Given the description of an element on the screen output the (x, y) to click on. 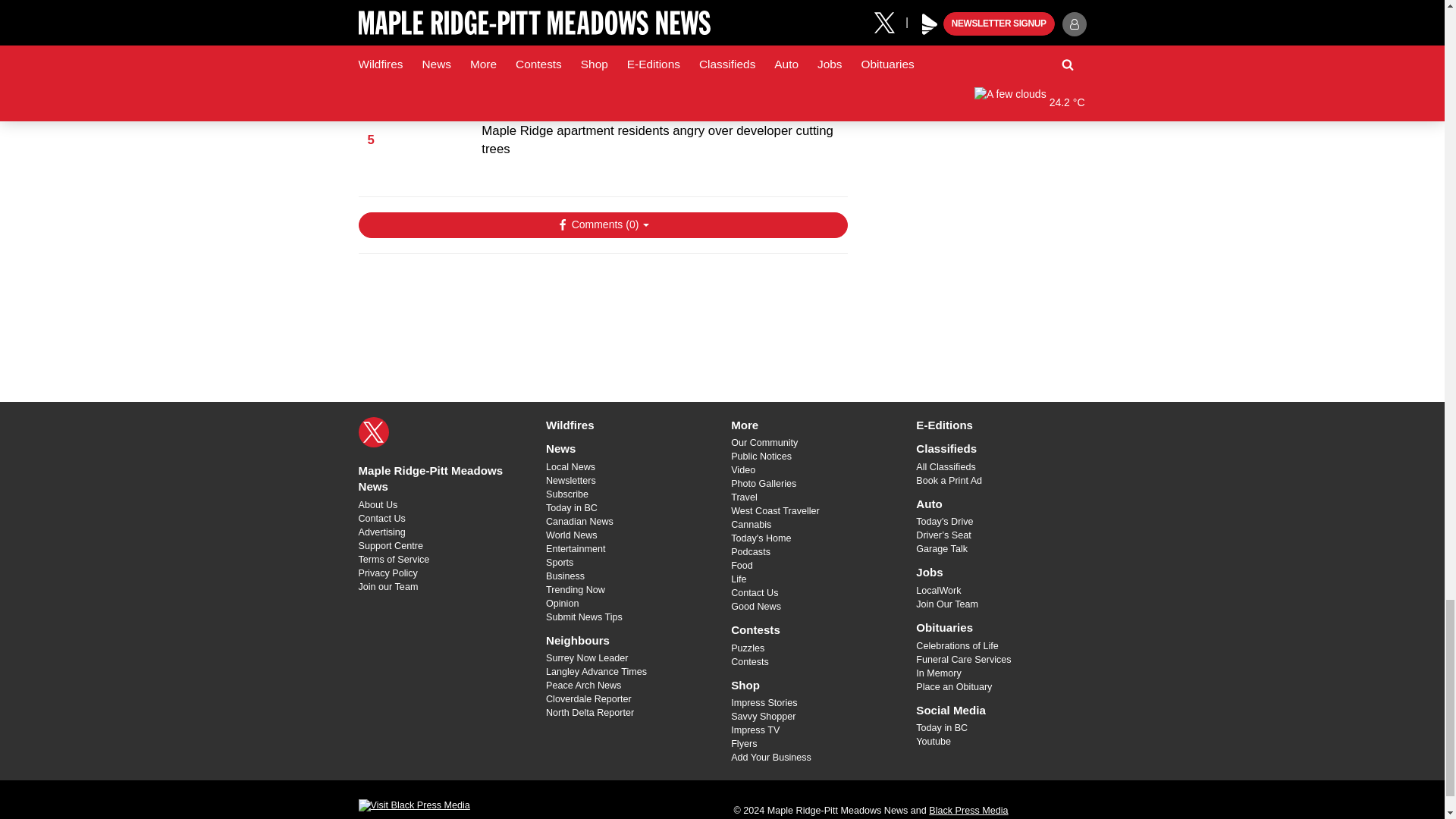
X (373, 431)
Show Comments (602, 225)
